Given the description of an element on the screen output the (x, y) to click on. 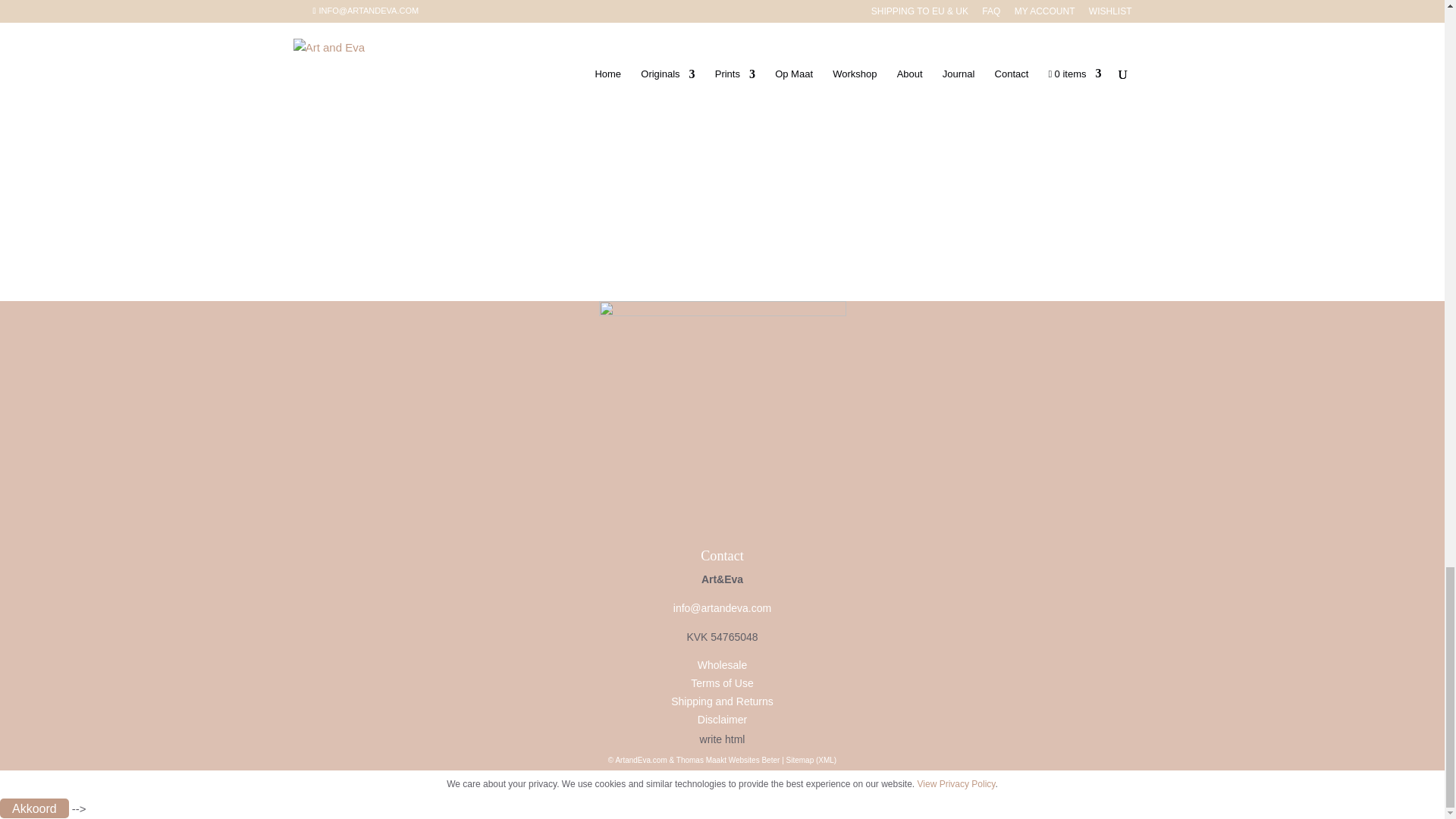
Wholesale (721, 664)
Submit (343, 101)
Shipping and Returns (722, 701)
Terms of Use (721, 683)
Disclaimer (721, 719)
